Given the description of an element on the screen output the (x, y) to click on. 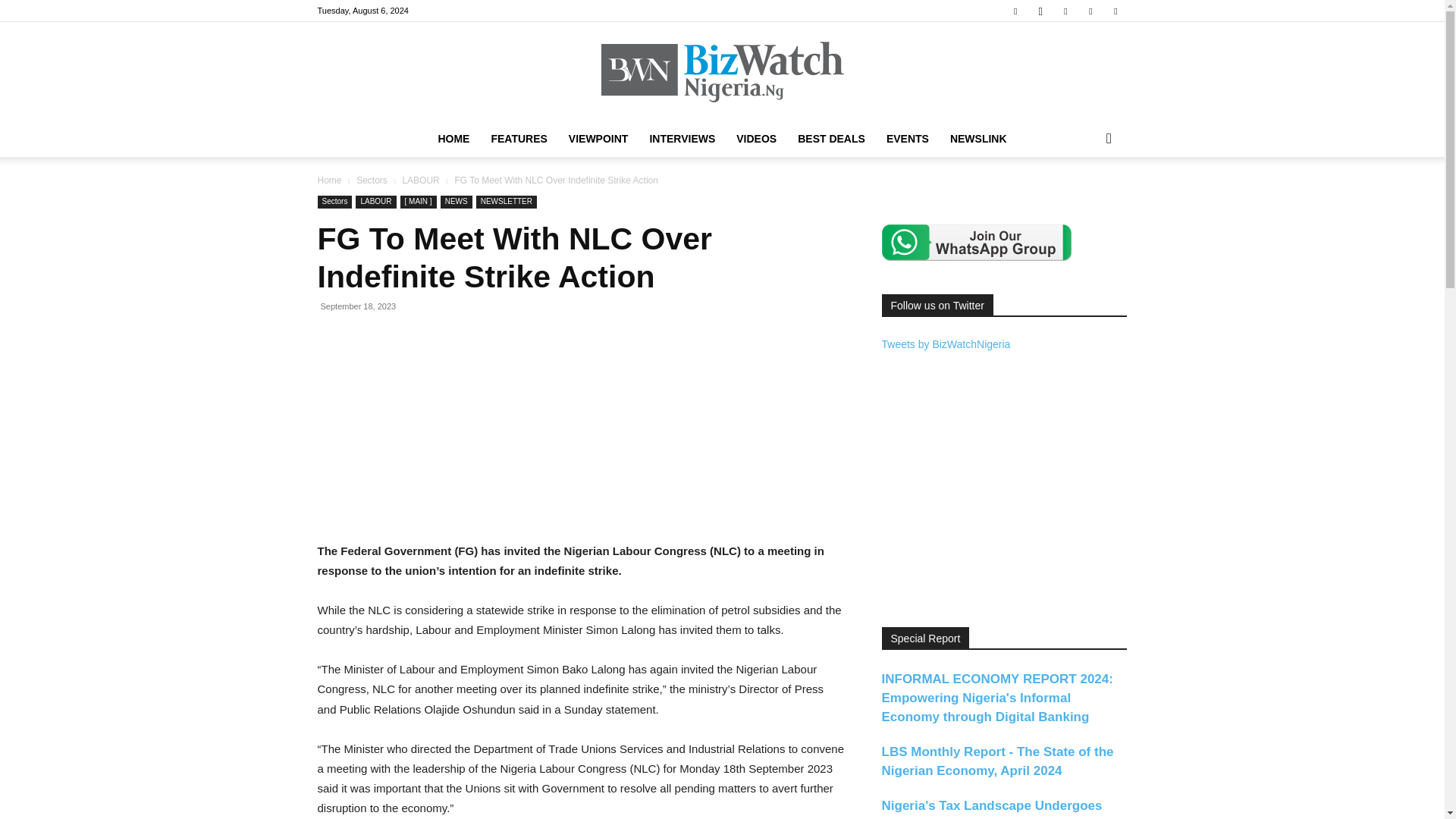
Twitter (1090, 10)
HOME (453, 138)
Linkedin (1065, 10)
Youtube (1114, 10)
FEATURES (518, 138)
Facebook (1015, 10)
Instagram (1040, 10)
